Given the description of an element on the screen output the (x, y) to click on. 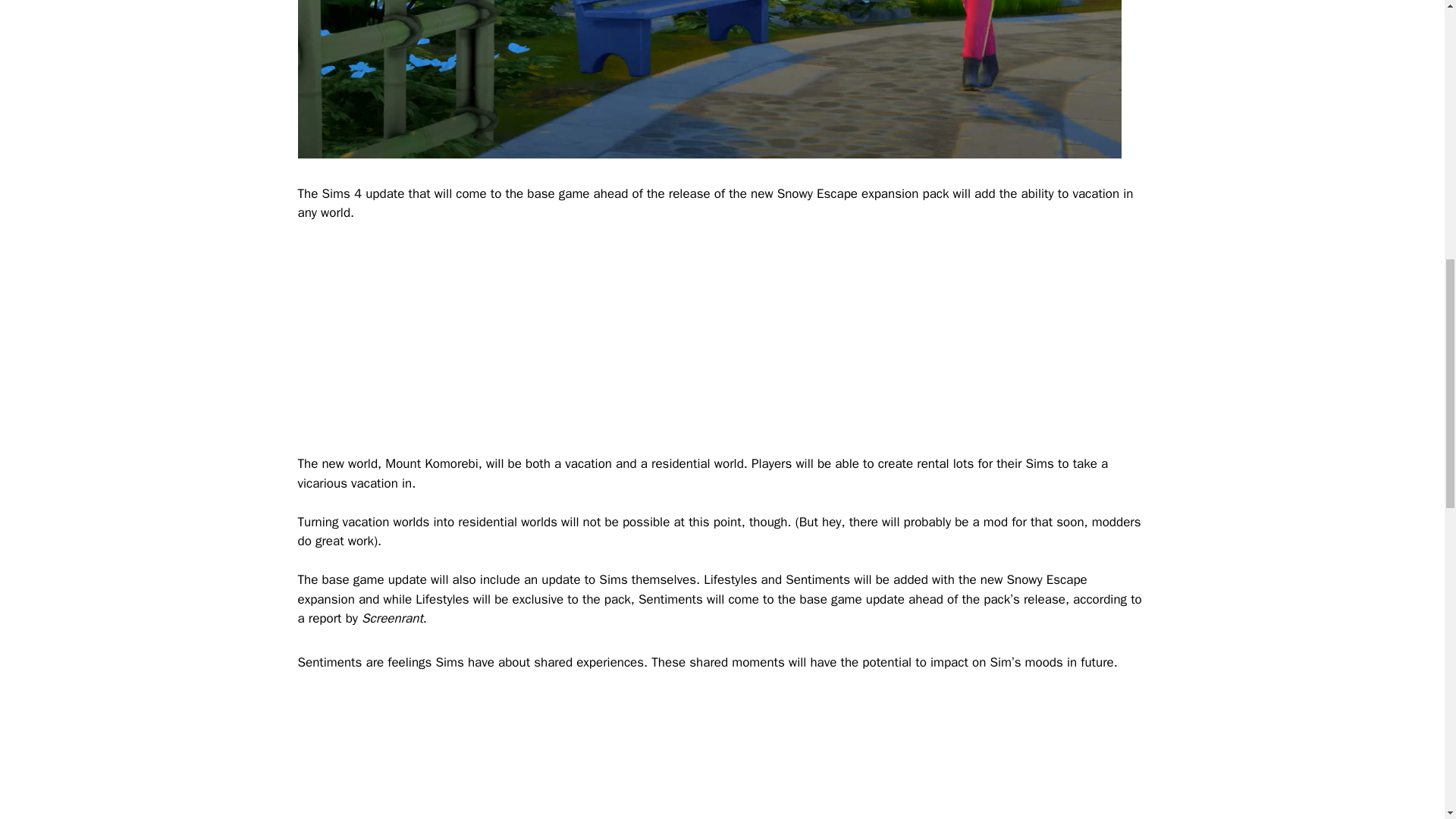
Advertisement (722, 755)
new Snowy Escape expansion pack (850, 193)
Mount Komorebi, (433, 463)
Screenrant (392, 618)
